Given the description of an element on the screen output the (x, y) to click on. 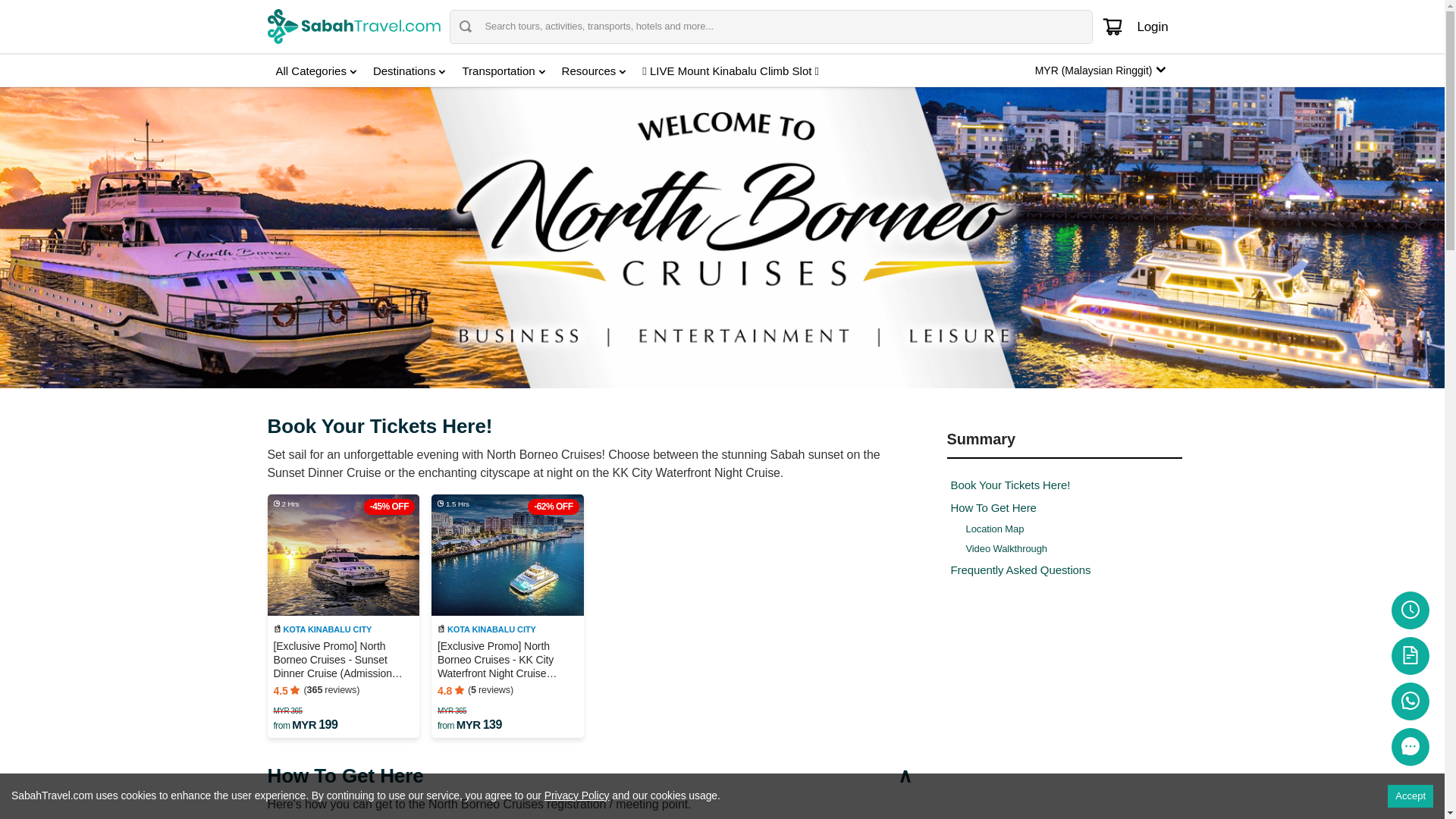
KOTA KINABALU CITY (323, 628)
Transportation (502, 70)
Resources (593, 70)
KOTA KINABALU CITY (488, 628)
All Categories (315, 70)
Destinations (409, 70)
Login (1152, 26)
